Given the description of an element on the screen output the (x, y) to click on. 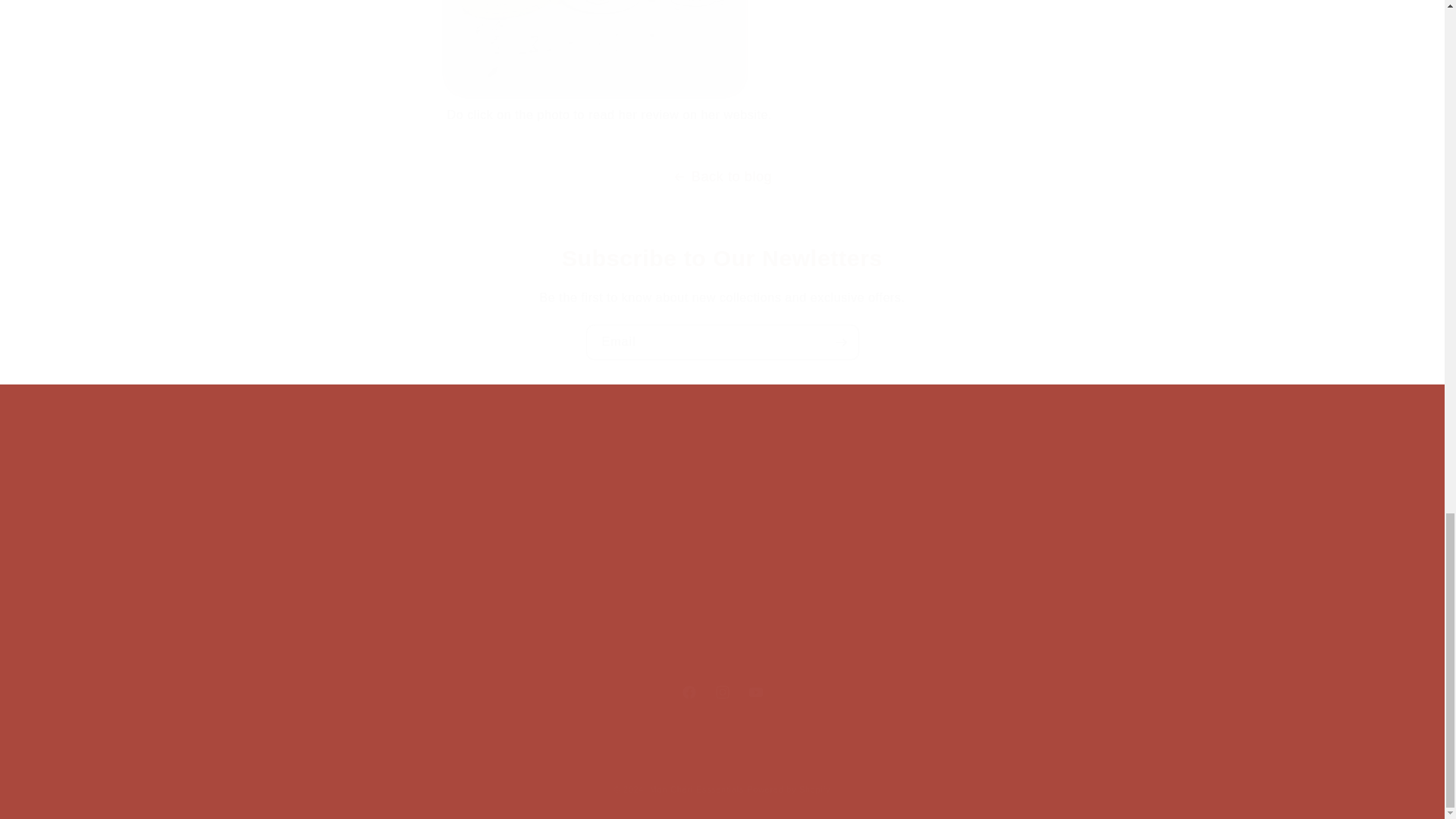
Subscribe to Our Newletters (721, 258)
Email (721, 692)
